Given the description of an element on the screen output the (x, y) to click on. 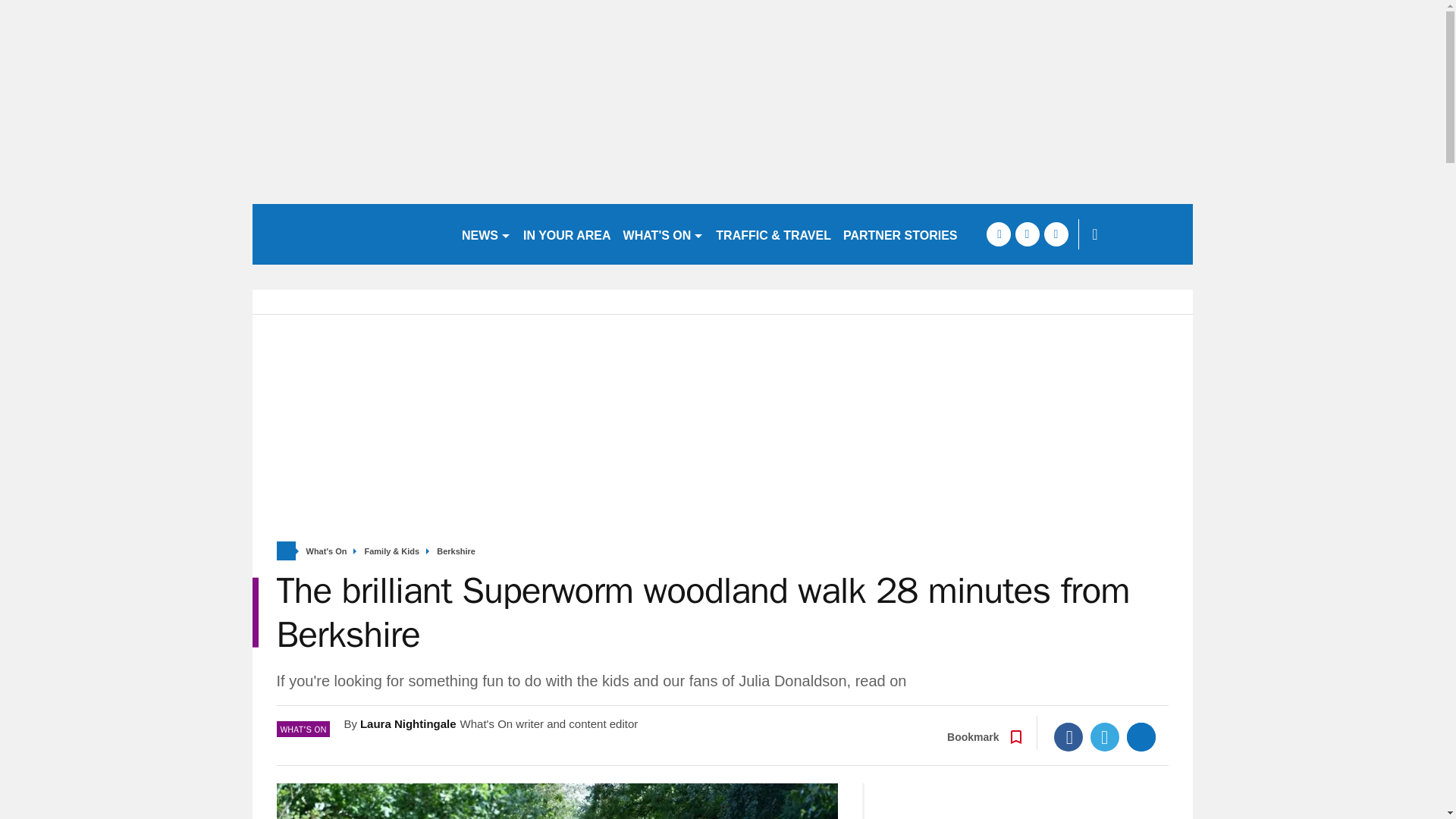
facebook (997, 233)
Facebook (1068, 736)
twitter (1026, 233)
PARTNER STORIES (900, 233)
NEWS (485, 233)
WHAT'S ON (663, 233)
IN YOUR AREA (566, 233)
instagram (1055, 233)
Twitter (1104, 736)
getreading (349, 233)
